Given the description of an element on the screen output the (x, y) to click on. 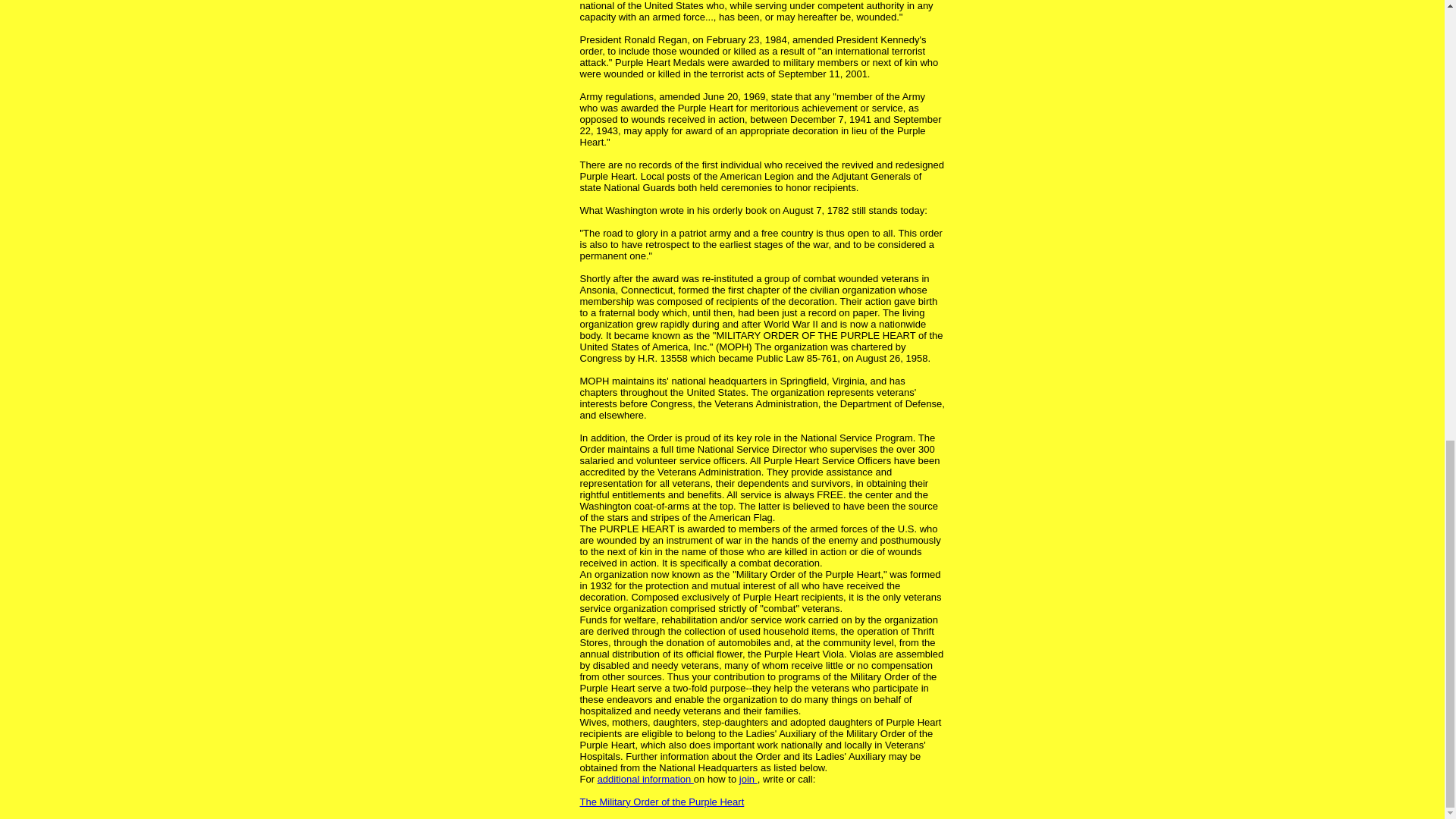
The Military Order of the Purple Heart (661, 801)
additional information (645, 778)
join (748, 778)
